Given the description of an element on the screen output the (x, y) to click on. 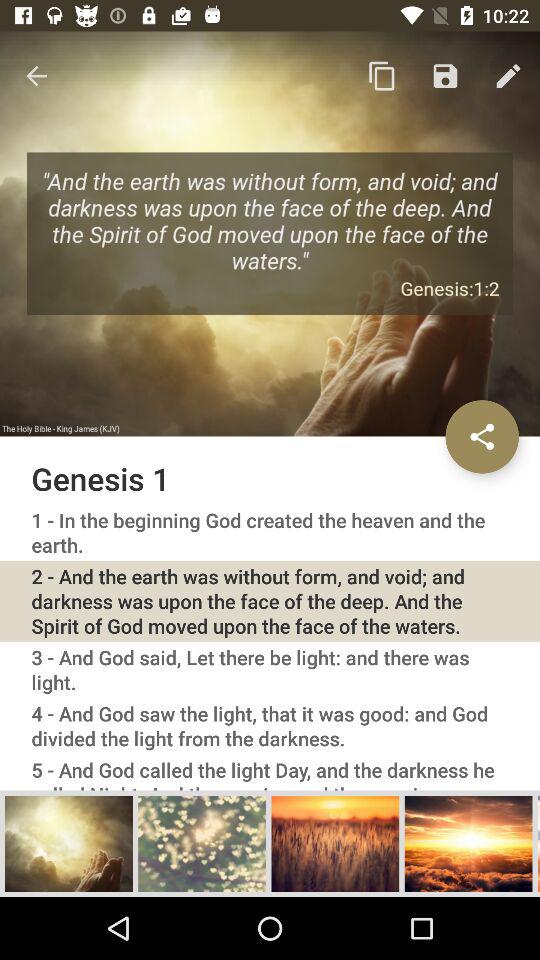
share article (482, 436)
